Given the description of an element on the screen output the (x, y) to click on. 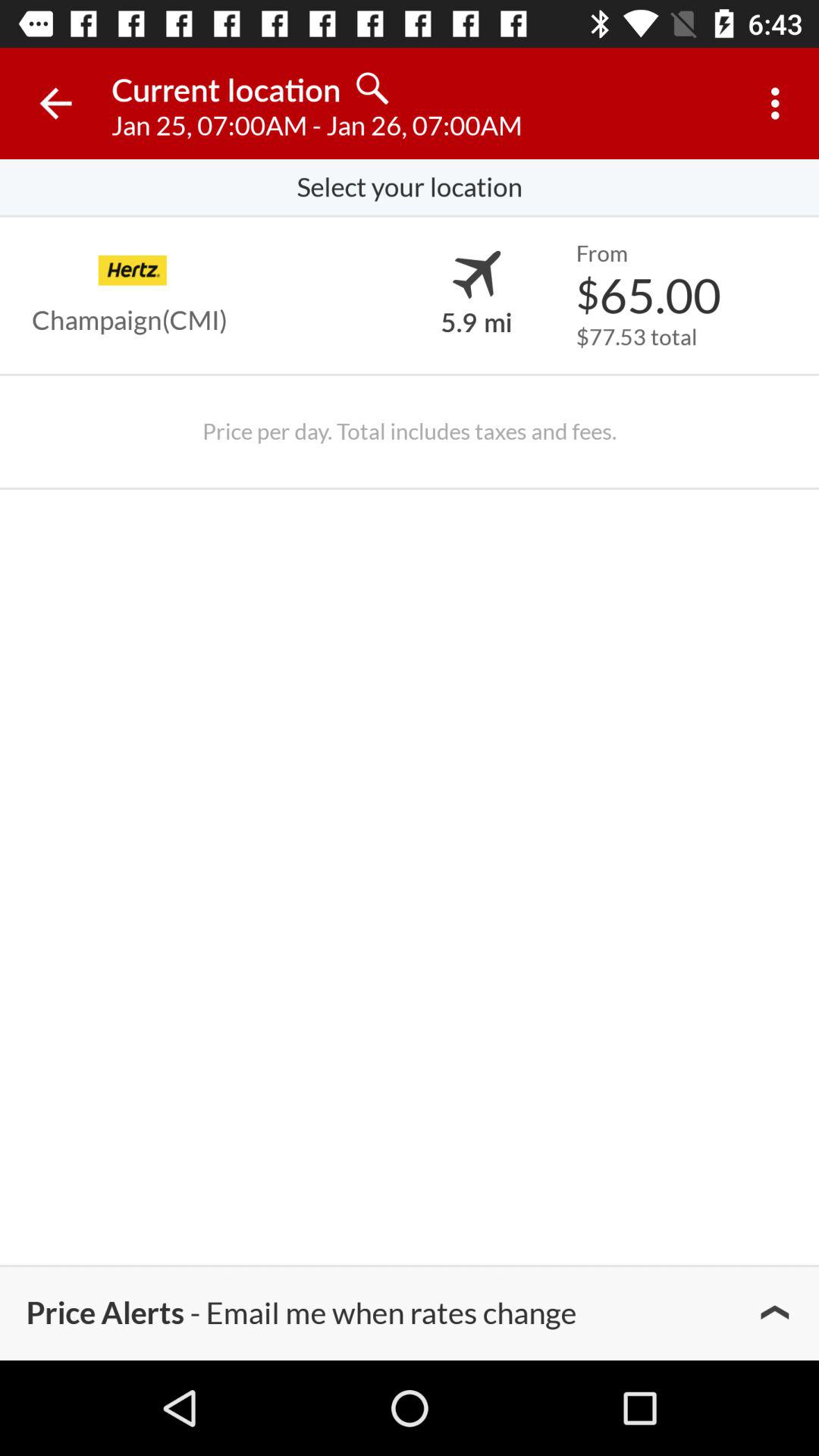
turn off icon above select your location icon (55, 103)
